Given the description of an element on the screen output the (x, y) to click on. 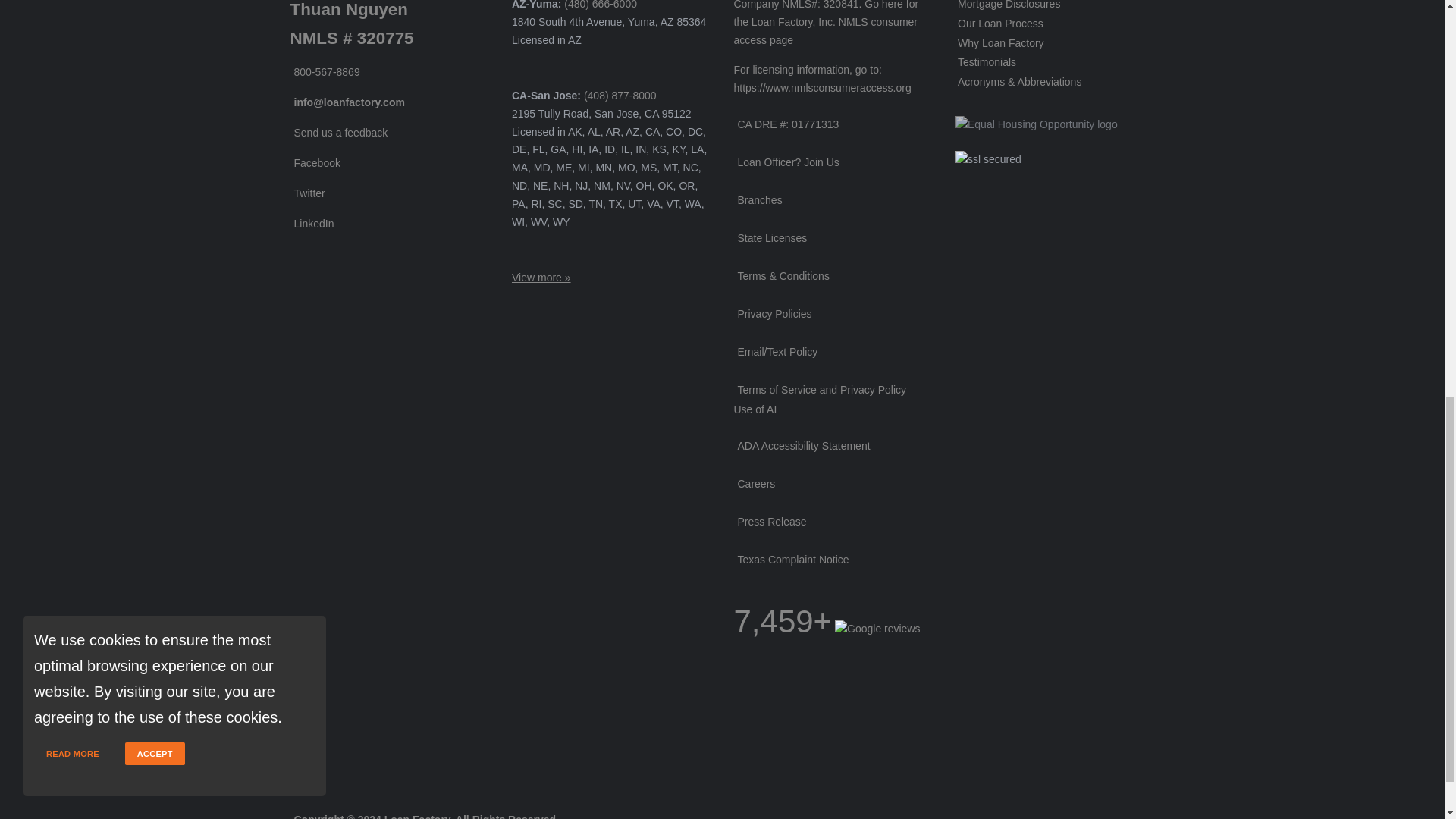
Loan Factory, Mortgage Broker, San Jose, CA (779, 704)
800-567-8869 (324, 71)
Facebook (314, 162)
Send us a feedback (338, 132)
